Given the description of an element on the screen output the (x, y) to click on. 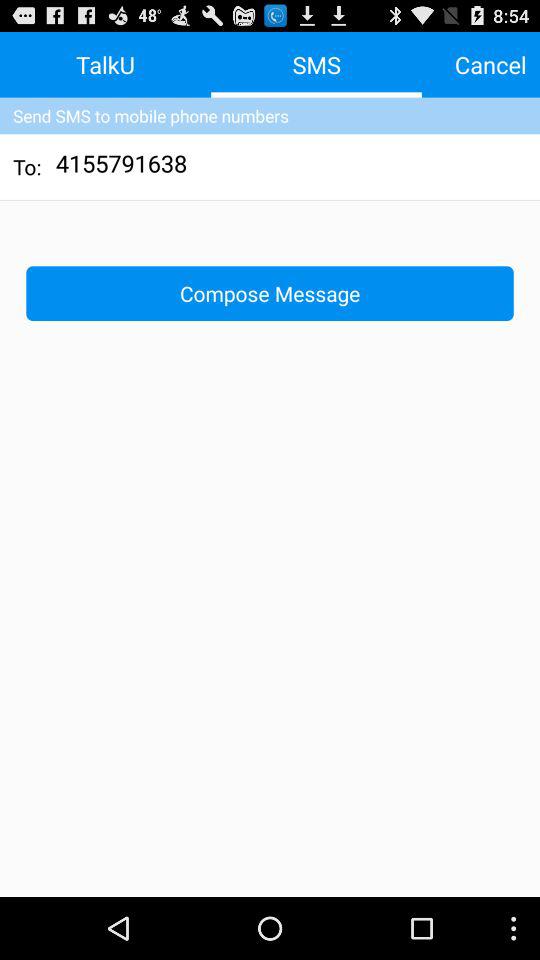
choose the app below send sms to icon (122, 166)
